Given the description of an element on the screen output the (x, y) to click on. 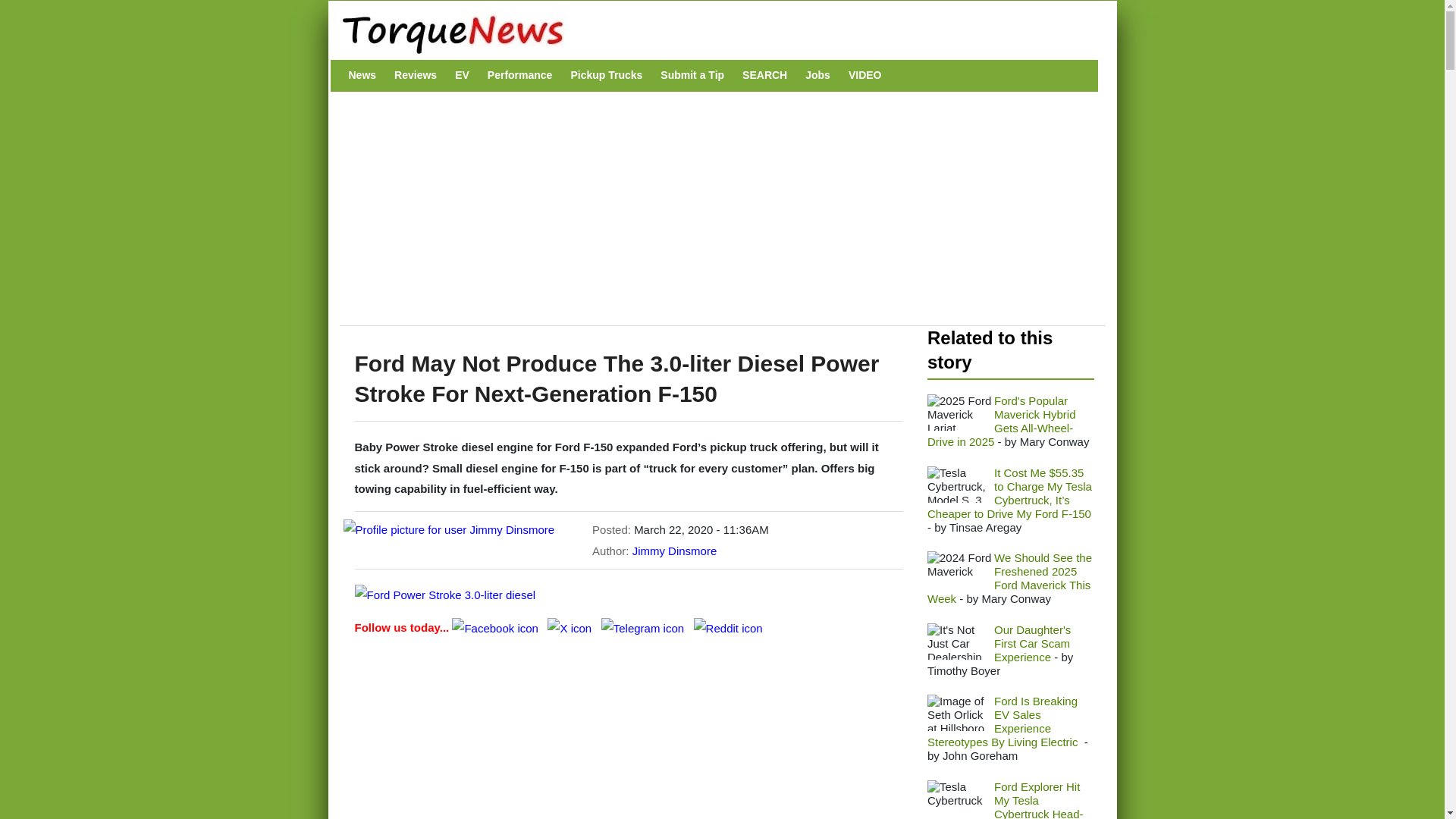
VIDEO (865, 75)
Jimmy Dinsmore (674, 550)
Pickup Trucks (605, 75)
News (362, 75)
Join us on Telegram! (644, 626)
View user profile. (674, 550)
SEARCH (764, 75)
Jobs (817, 75)
Submit a Tip (691, 75)
3.0-liter Power Stroke diesel (445, 595)
Join us on Reddit! (728, 626)
Performance (520, 75)
News (362, 75)
Reviews (415, 75)
